Given the description of an element on the screen output the (x, y) to click on. 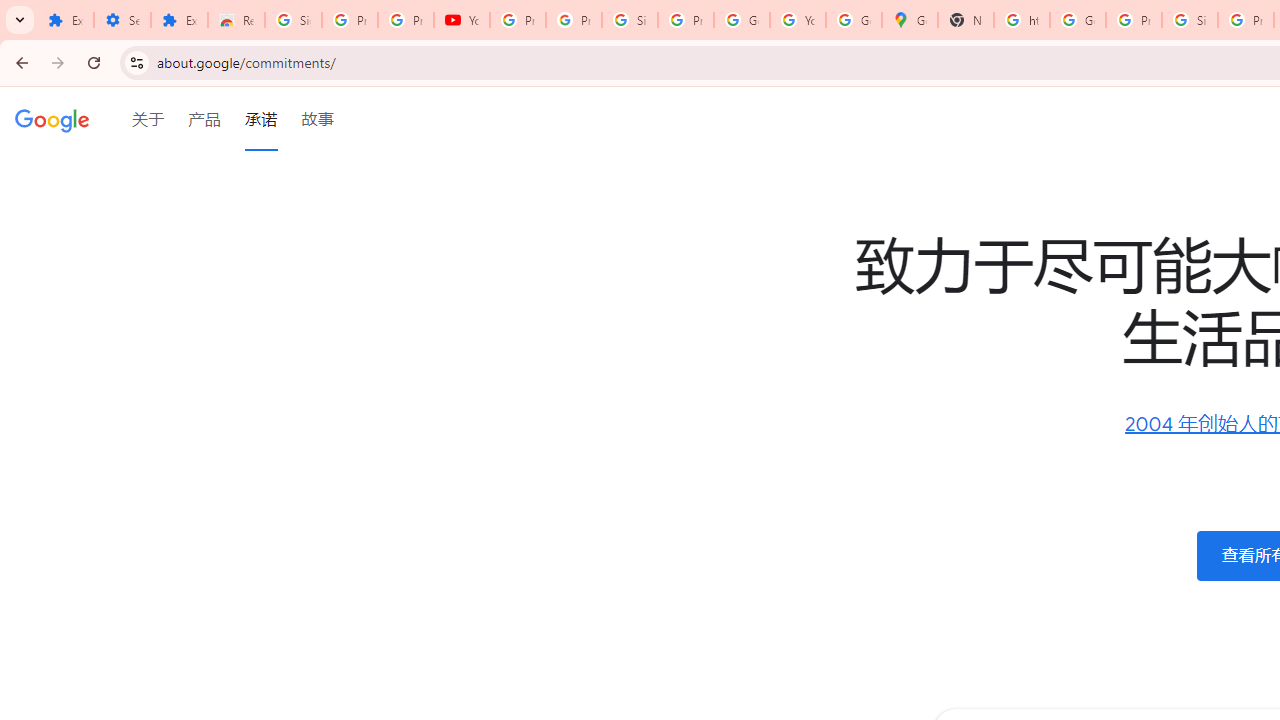
YouTube (461, 20)
Google Maps (909, 20)
YouTube (797, 20)
New Tab (966, 20)
Sign in - Google Accounts (629, 20)
Reviews: Helix Fruit Jump Arcade Game (235, 20)
Google Account (742, 20)
